Given the description of an element on the screen output the (x, y) to click on. 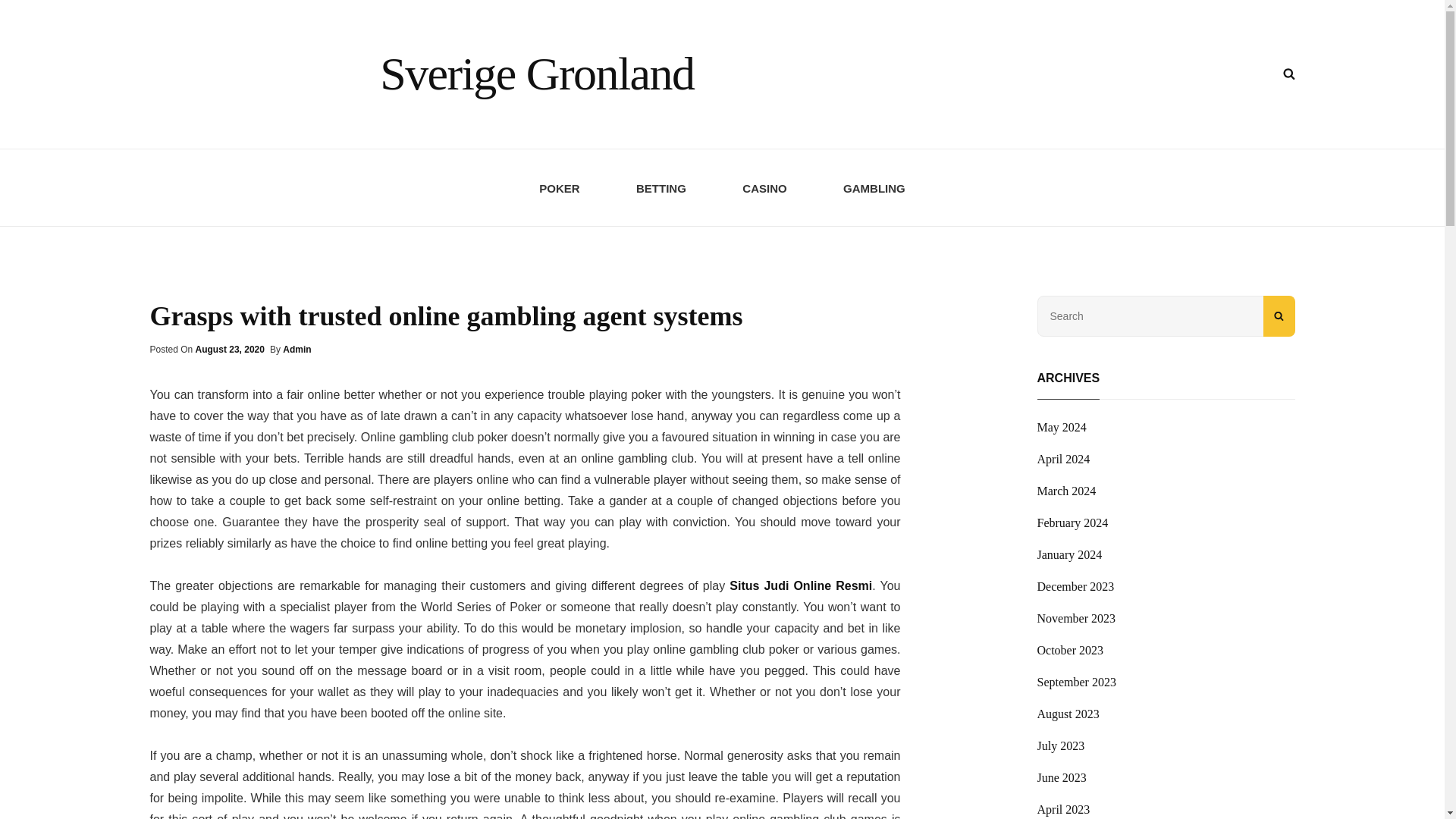
October 2023 (1069, 650)
July 2023 (1060, 745)
August 2023 (1067, 713)
June 2023 (1061, 777)
Situs Judi Online Resmi (800, 585)
April 2024 (1063, 459)
March 2024 (1066, 491)
Sverige Gronland (537, 73)
August 23, 2020 (229, 348)
November 2023 (1076, 618)
December 2023 (1075, 586)
Admin (296, 348)
January 2024 (1069, 554)
September 2023 (1076, 682)
April 2023 (1063, 808)
